Given the description of an element on the screen output the (x, y) to click on. 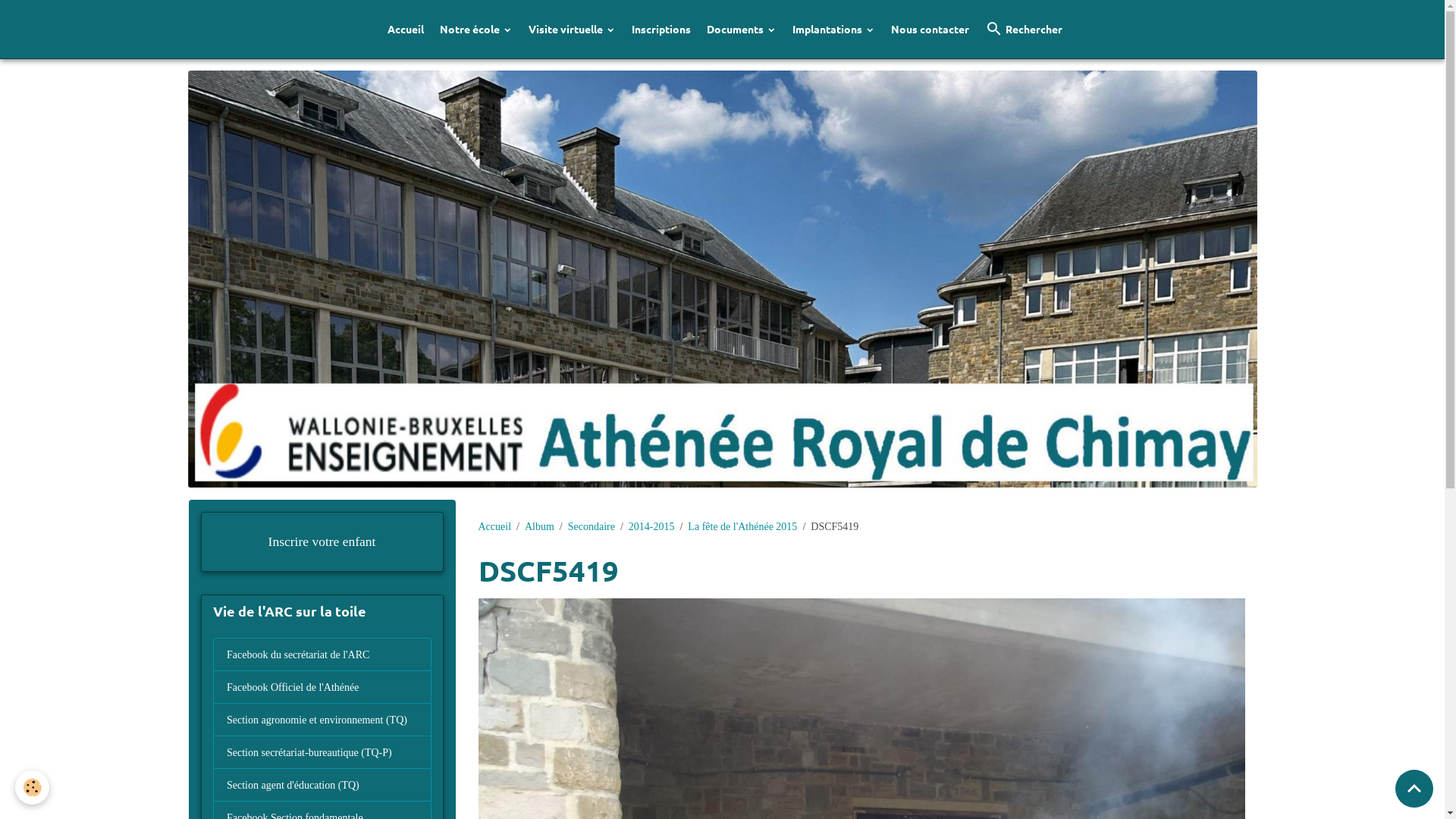
Nous contacter Element type: text (929, 28)
Inscriptions Element type: text (661, 28)
2014-2015 Element type: text (651, 526)
Implantations Element type: text (833, 28)
Documents Element type: text (741, 28)
Rechercher Element type: text (1023, 28)
Section agronomie et environnement (TQ) Element type: text (321, 720)
Album Element type: text (539, 526)
Inscrire votre enfant Element type: text (321, 542)
Visite virtuelle Element type: text (572, 28)
Accueil Element type: text (494, 526)
Secondaire Element type: text (591, 526)
Accueil Element type: text (405, 28)
